Given the description of an element on the screen output the (x, y) to click on. 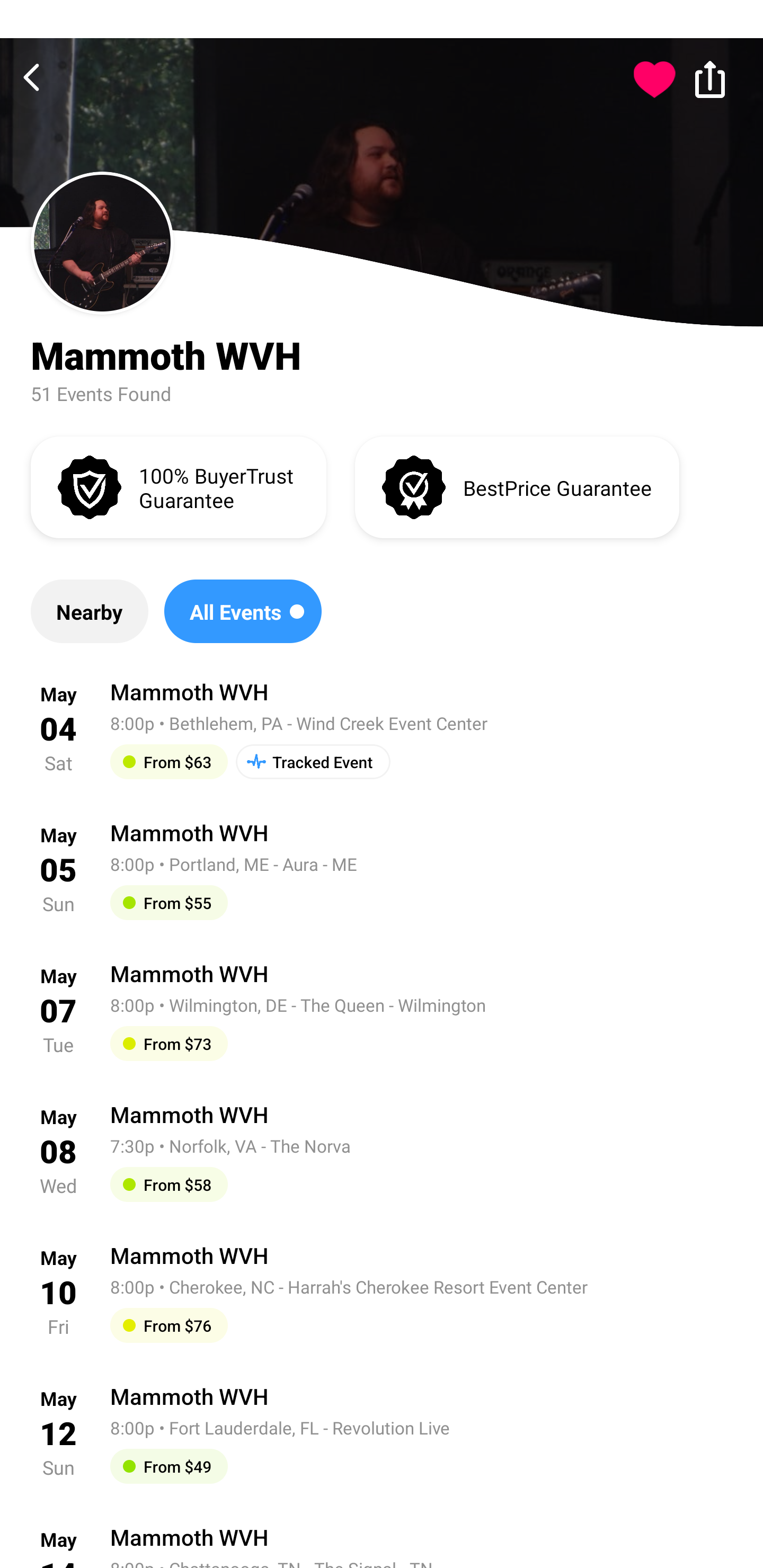
100% BuyerTrust Guarantee (178, 486)
BestPrice Guarantee (516, 486)
Nearby (89, 611)
All Events (242, 611)
